Given the description of an element on the screen output the (x, y) to click on. 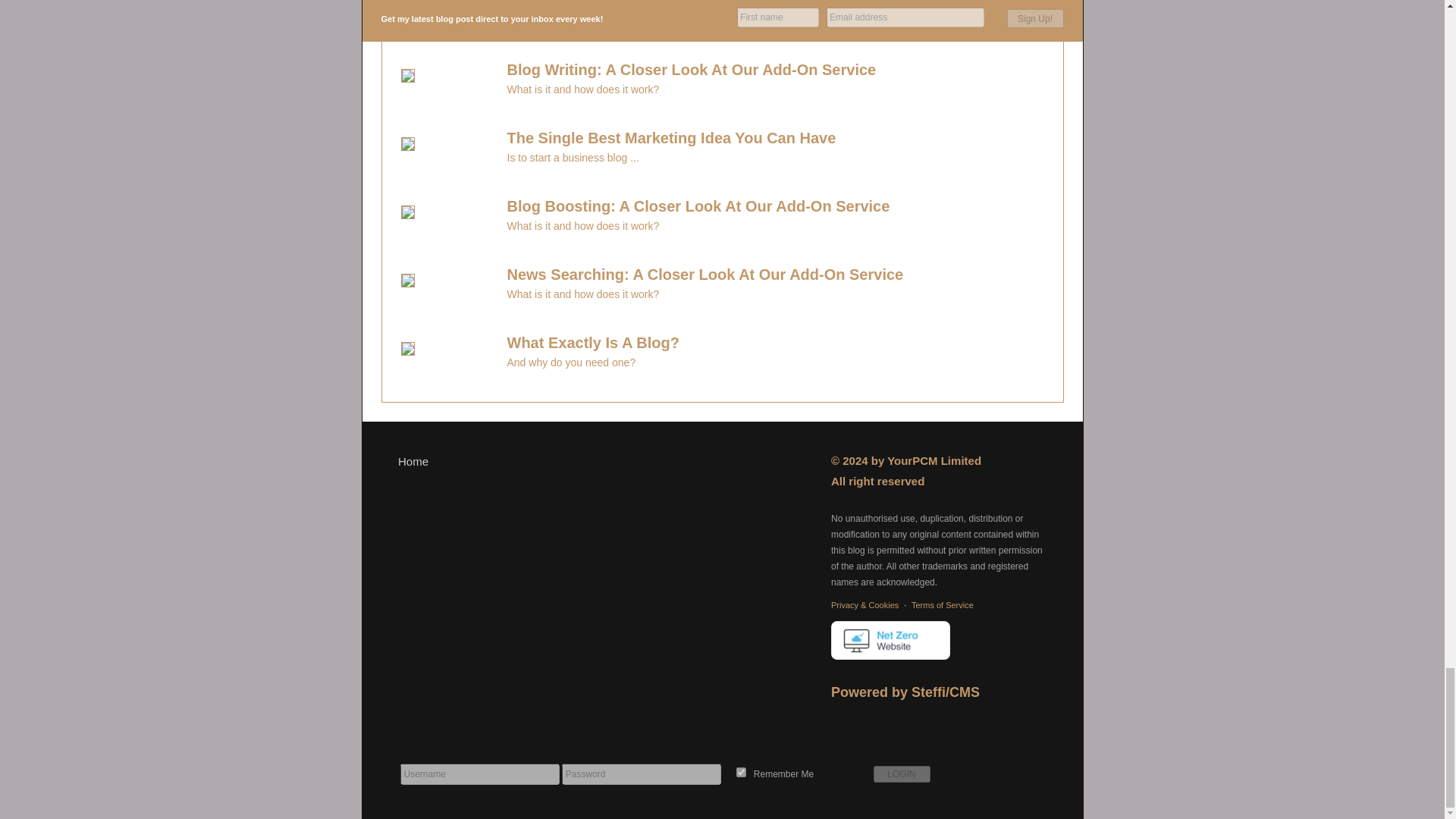
Blog Mailers: A Closer Look At Our Add-On Service (676, 4)
What Exactly Is A Blog? (577, 342)
What is it and how does it work? (567, 89)
Home (412, 461)
Blog Writing: A Closer Look At Our Add-On Service (676, 69)
What is it and how does it work? (567, 294)
News Searching: A Closer Look At Our Add-On Service (689, 274)
What is it and how does it work? (567, 225)
Click here to read this blog post (676, 4)
Click here to read this blog post (406, 9)
